Given the description of an element on the screen output the (x, y) to click on. 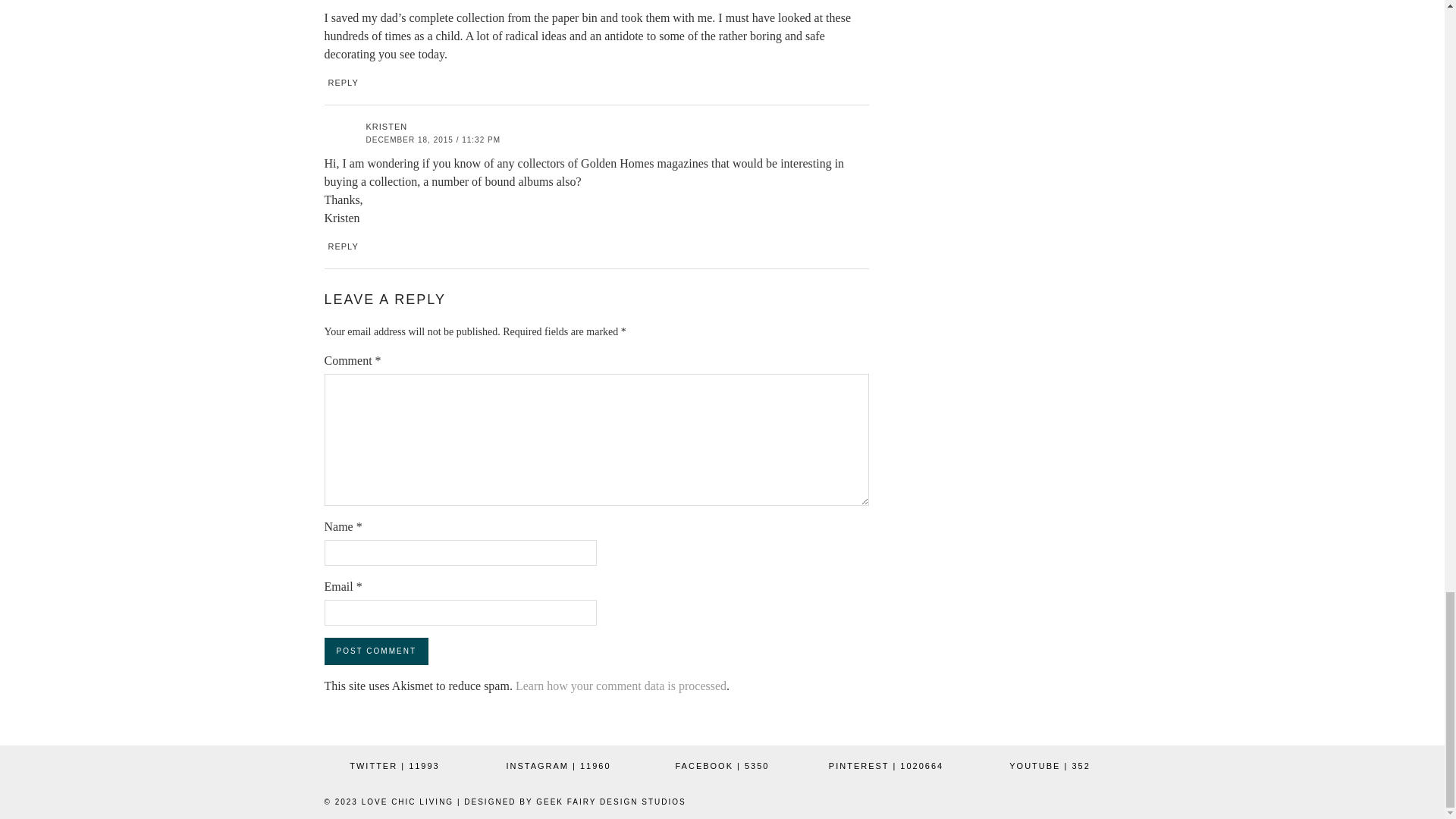
Post Comment (376, 651)
